Given the description of an element on the screen output the (x, y) to click on. 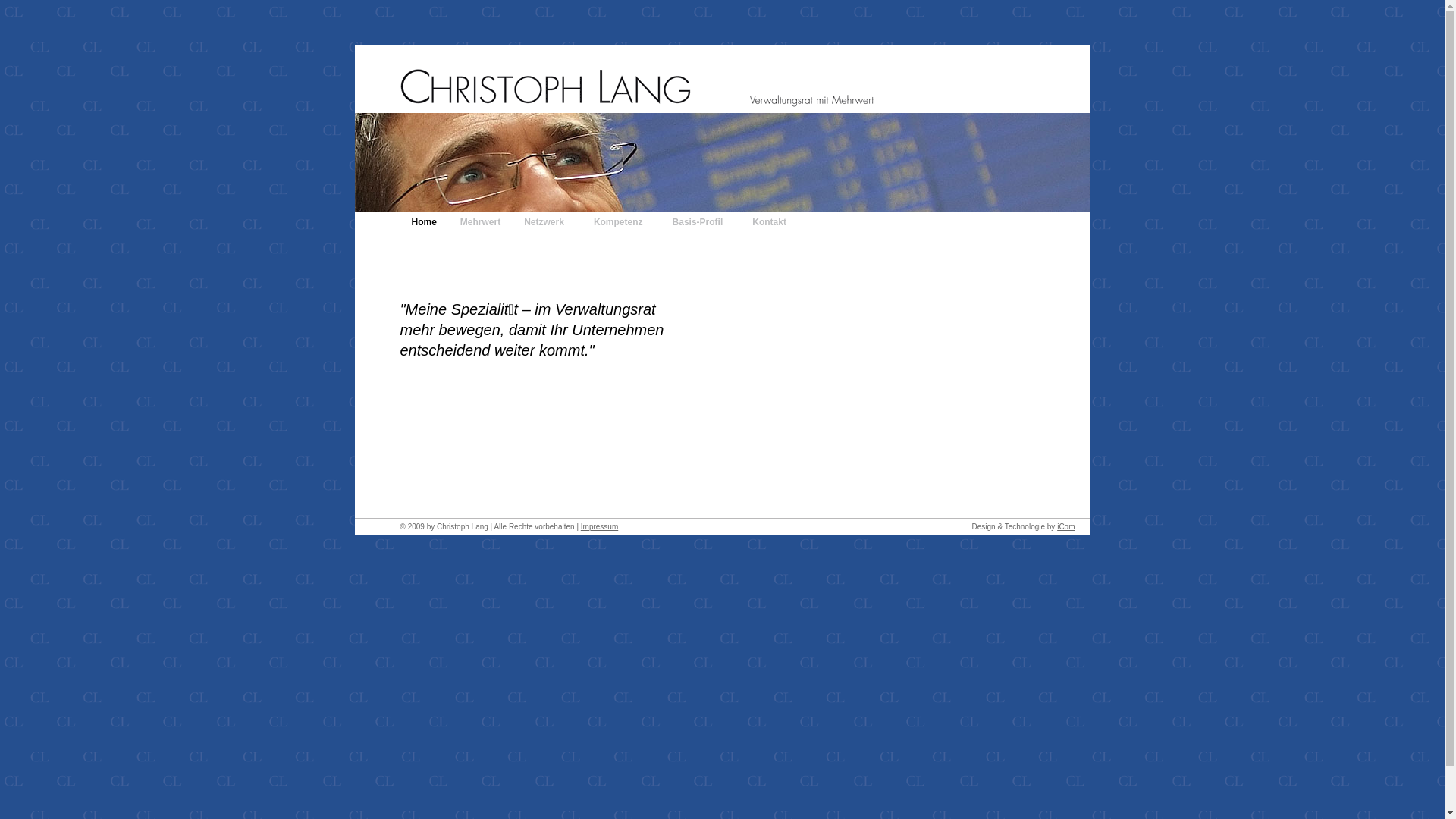
Netzwerk Element type: text (547, 222)
Kontakt Element type: text (772, 222)
Impressum Element type: text (599, 526)
iCom Element type: text (1065, 526)
Basis-Profil Element type: text (701, 222)
Kompetenz Element type: text (621, 222)
Home Element type: text (424, 222)
Mehrwert Element type: text (479, 222)
